Given the description of an element on the screen output the (x, y) to click on. 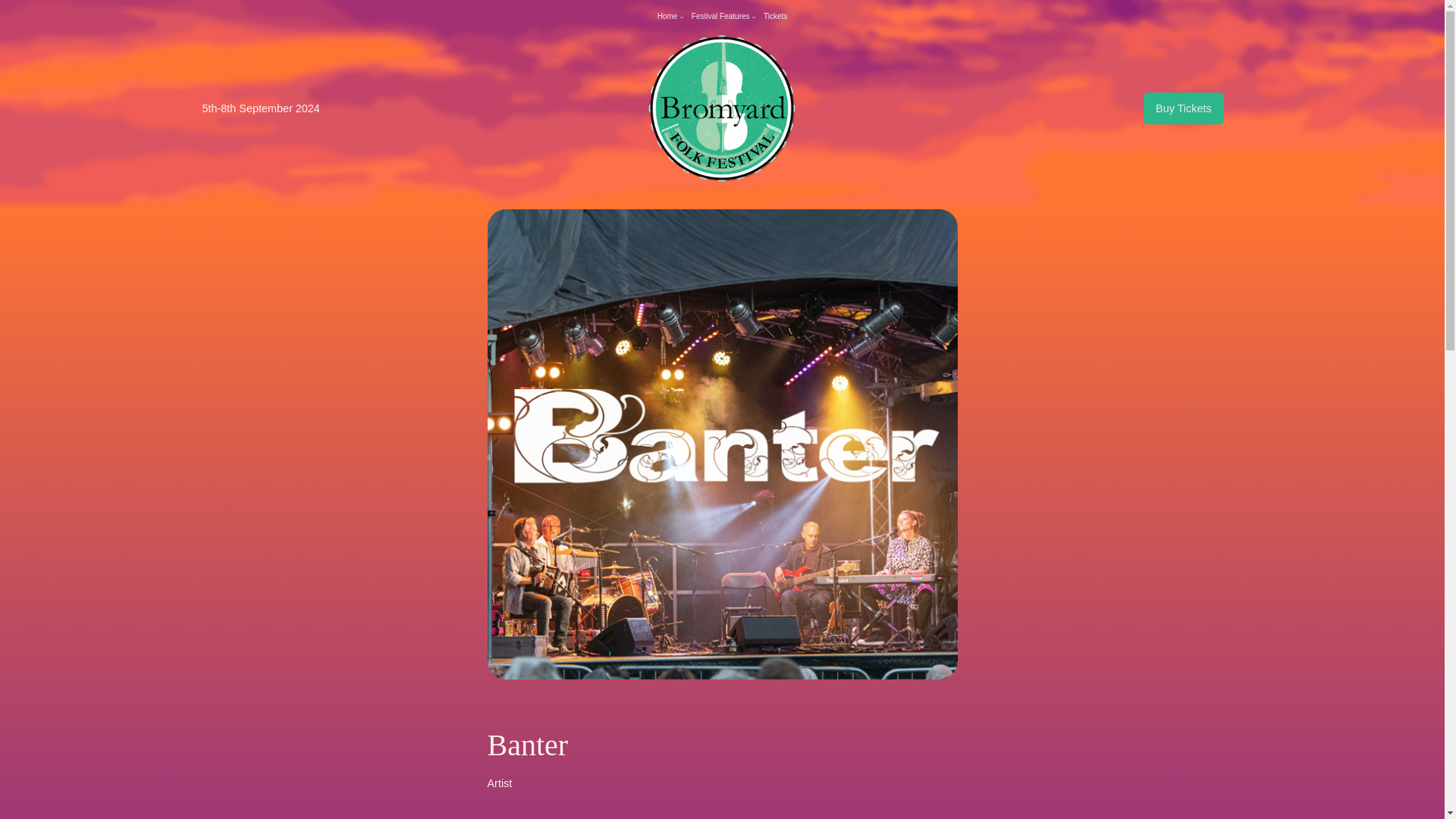
Home (668, 16)
Tickets (774, 16)
Artist (499, 783)
Buy Tickets (1183, 108)
Festival Features (720, 16)
